Given the description of an element on the screen output the (x, y) to click on. 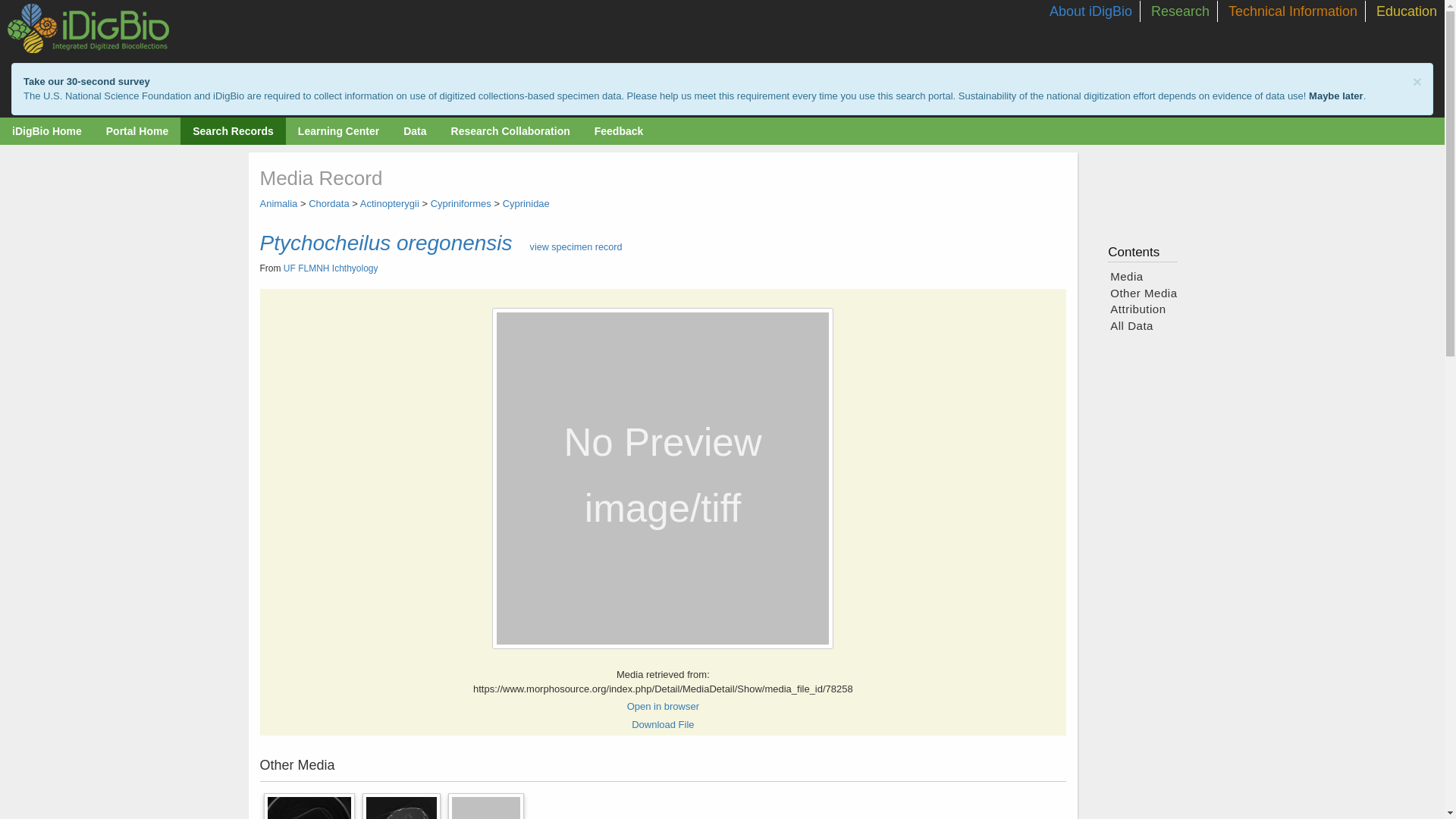
Technical Information (1292, 11)
Search Records (232, 131)
SEARCH MEDIA kingdom: animalia (278, 203)
UF FLMNH Ichthyology (330, 267)
Feedback (618, 131)
Data (414, 131)
Other Media (662, 785)
click to open original media file (662, 707)
click to open original media file (662, 725)
view specimen record (576, 246)
Education (1406, 11)
